Given the description of an element on the screen output the (x, y) to click on. 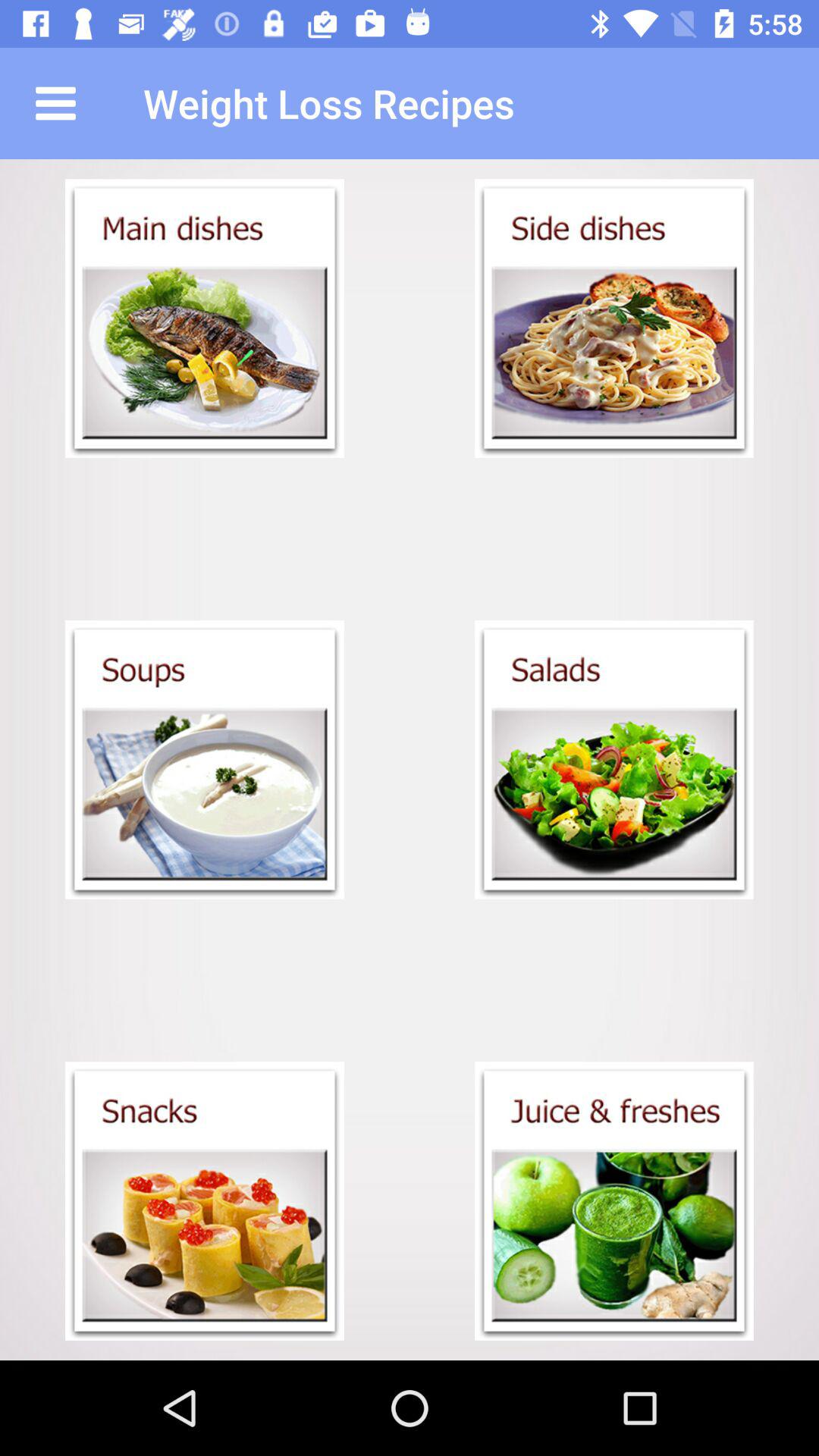
side dish menu link (614, 318)
